Given the description of an element on the screen output the (x, y) to click on. 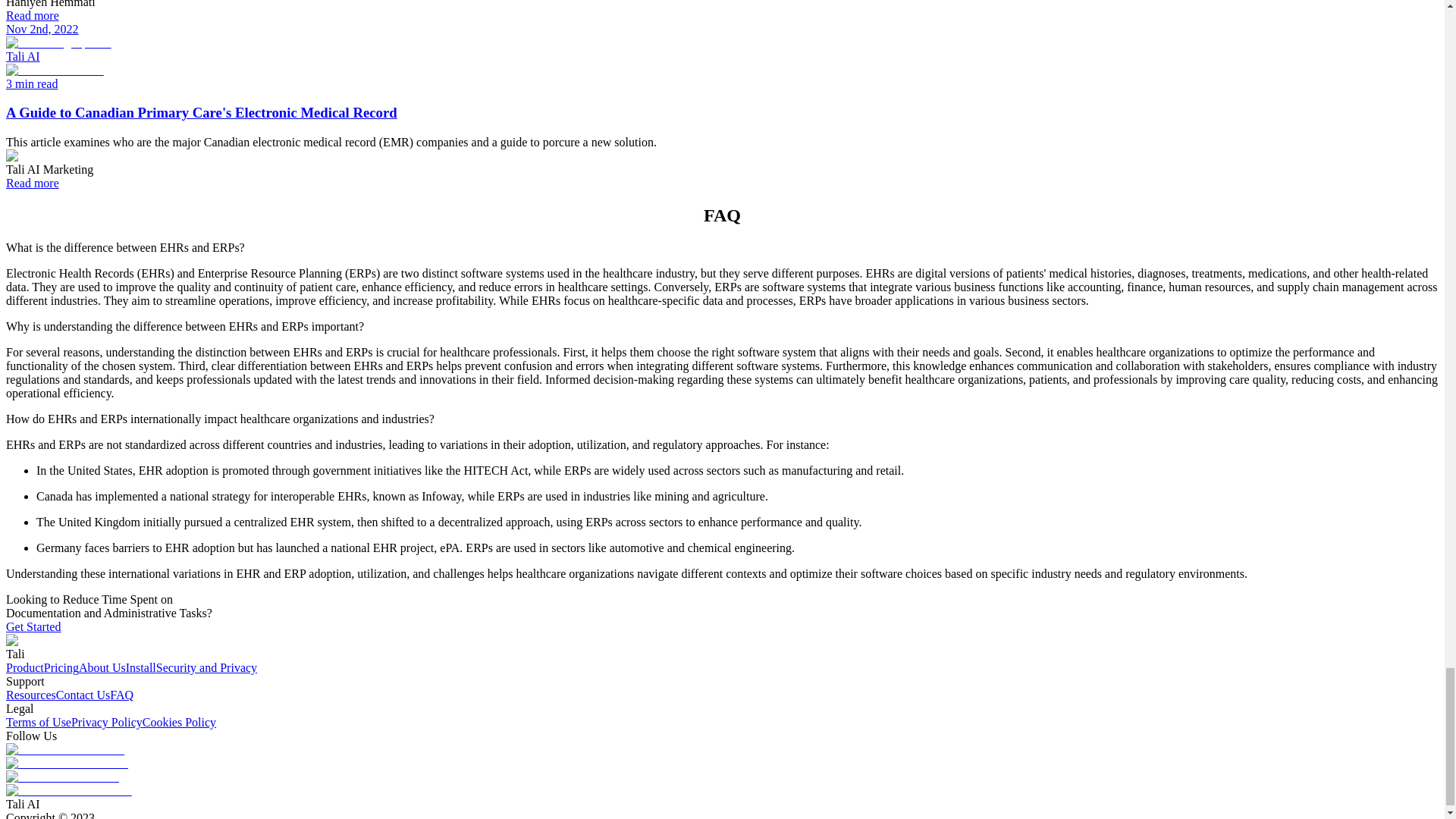
Cookies Policy (178, 721)
FAQ (121, 694)
Contact Us (83, 694)
Resources (30, 694)
Privacy Policy (106, 721)
Install (140, 667)
Read more (32, 182)
About Us (101, 667)
Read more (32, 15)
Pricing (60, 667)
